Given the description of an element on the screen output the (x, y) to click on. 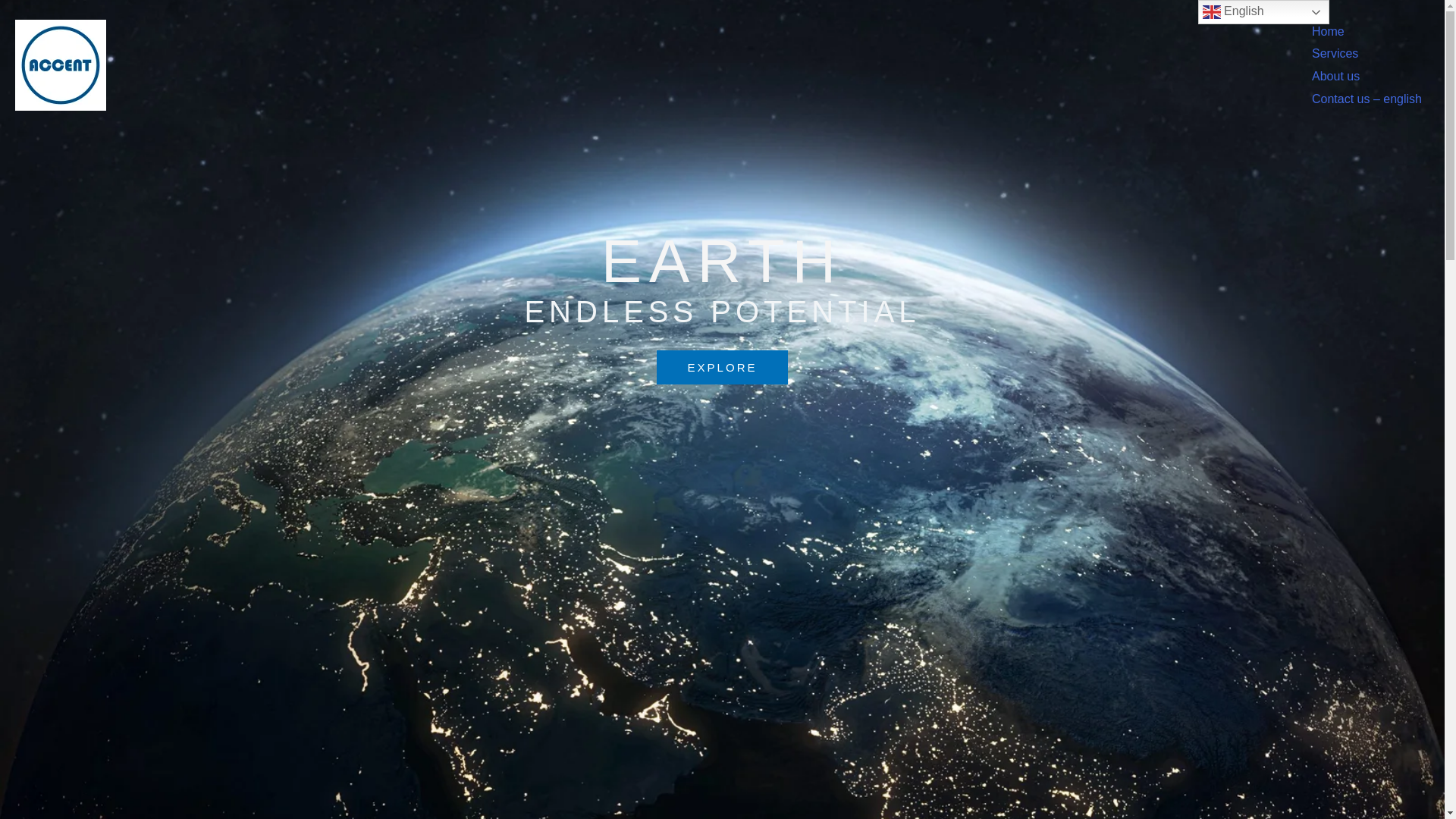
About us (1335, 75)
EXPLORE (721, 367)
Home (1327, 31)
Services (1334, 52)
English (1263, 12)
